Given the description of an element on the screen output the (x, y) to click on. 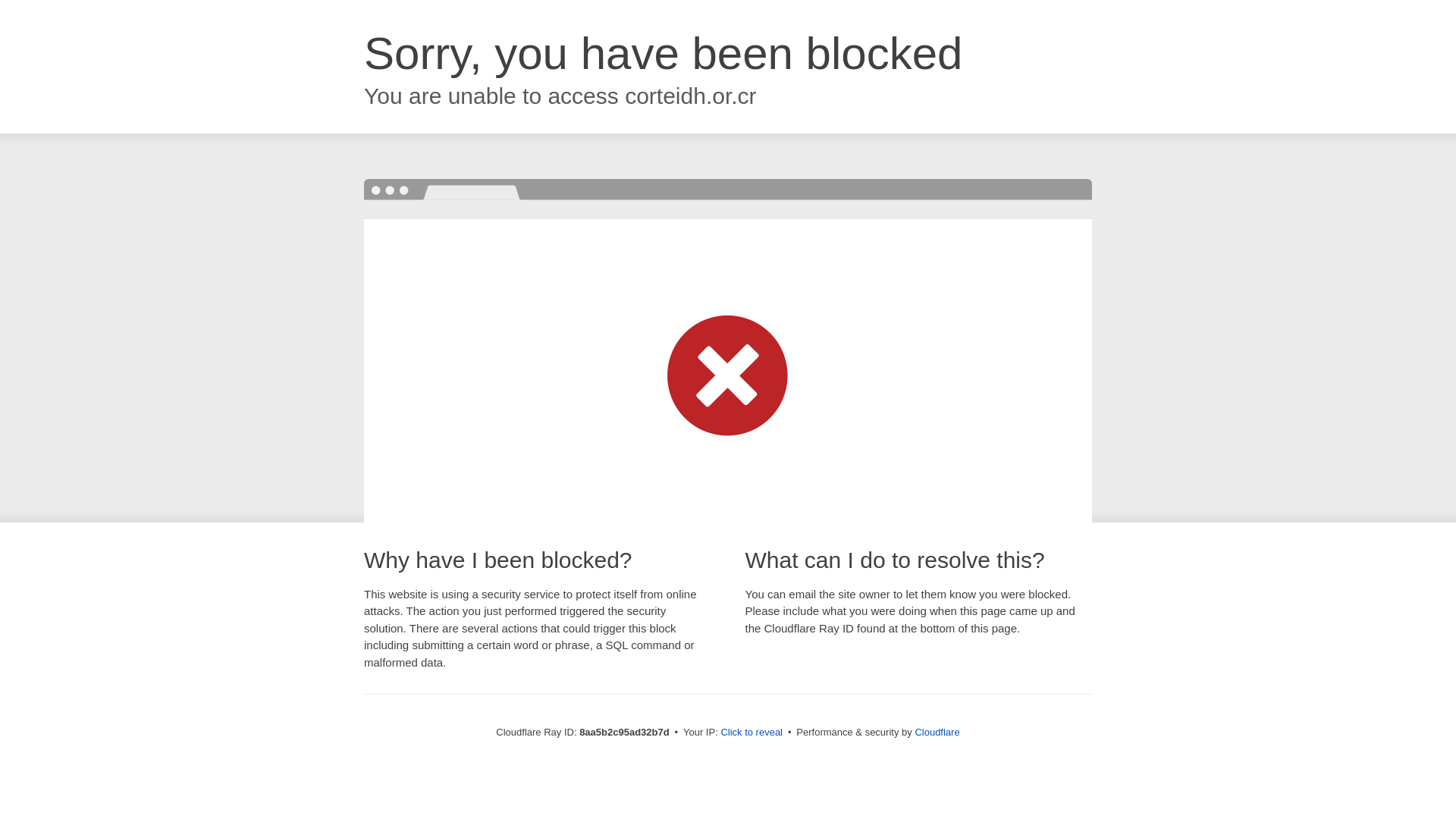
Click to reveal (751, 732)
Cloudflare (936, 731)
